Given the description of an element on the screen output the (x, y) to click on. 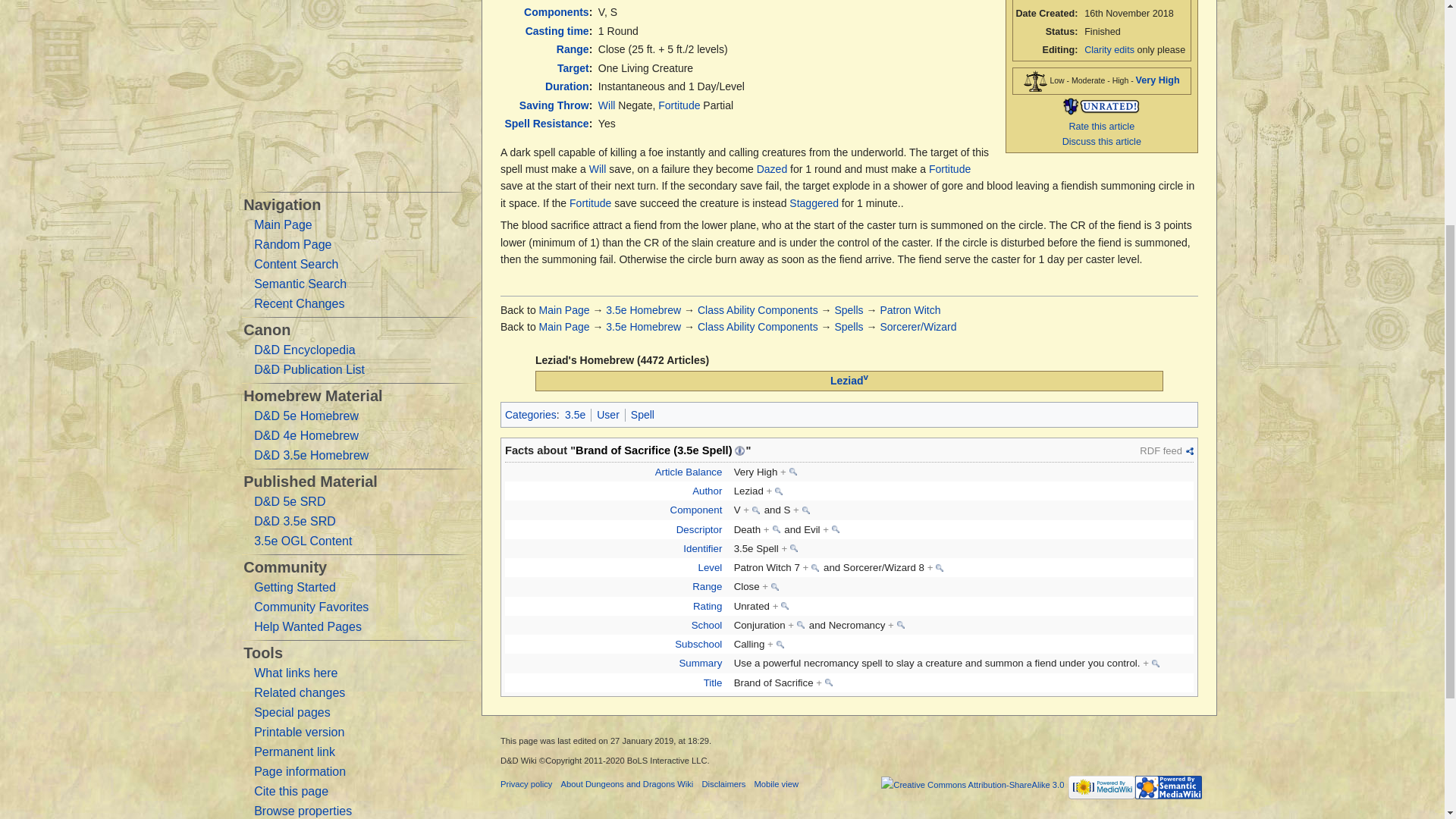
Casting time (557, 30)
3.5e Homebrew (643, 309)
Fortitude (590, 203)
3.5e Homebrew (643, 326)
Spells (848, 309)
Will (606, 105)
Fortitude (949, 168)
Staggered (813, 203)
Range (572, 49)
Main Page (563, 309)
Dazed (772, 168)
Will (598, 168)
Components (556, 11)
Duration (566, 86)
Main Page (563, 326)
